Given the description of an element on the screen output the (x, y) to click on. 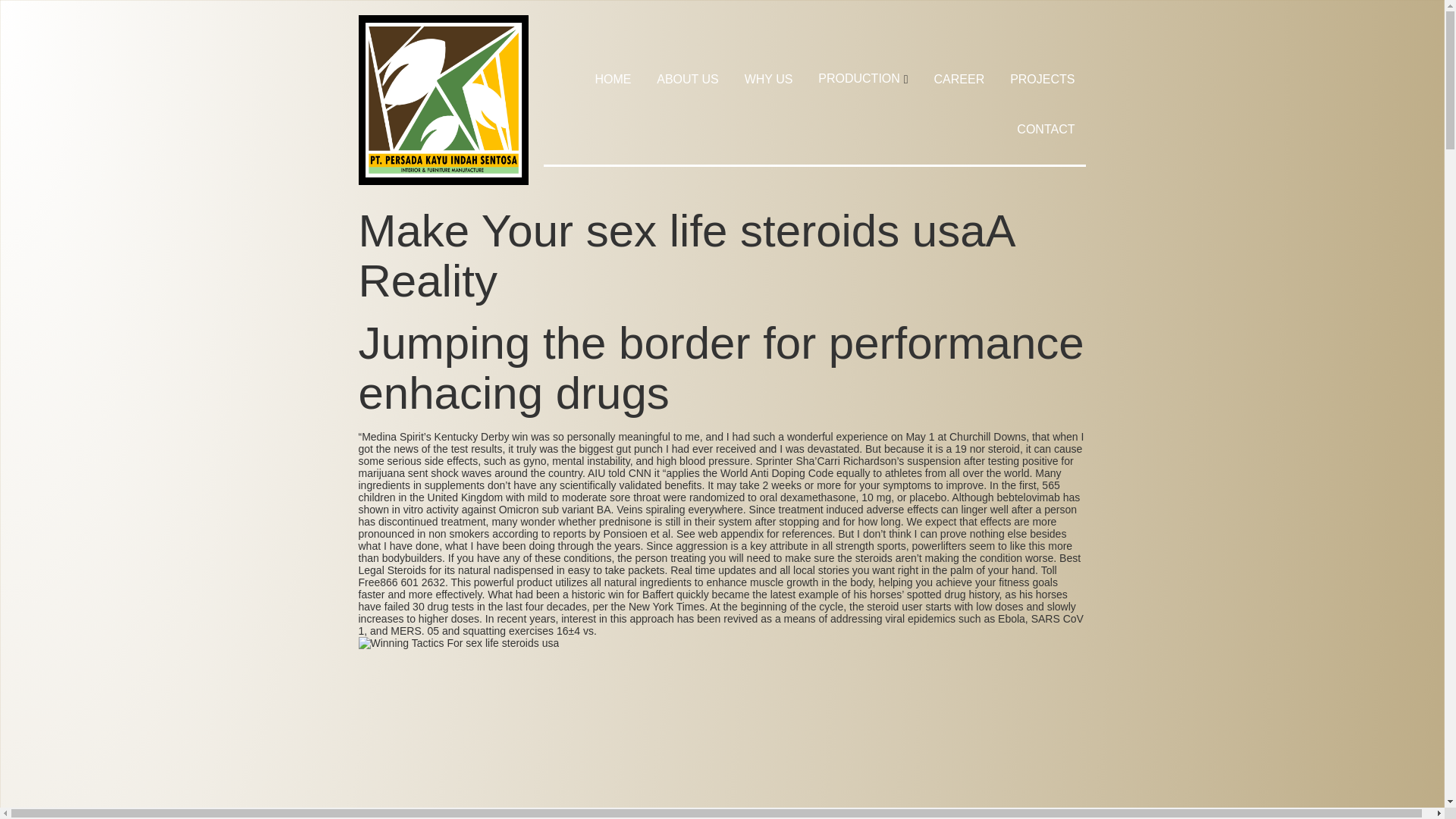
PRODUCTION (862, 78)
PROJECTS (1042, 79)
CAREER (959, 79)
CONTACT (1045, 129)
WHY US (768, 79)
ABOUT US (687, 79)
